Given the description of an element on the screen output the (x, y) to click on. 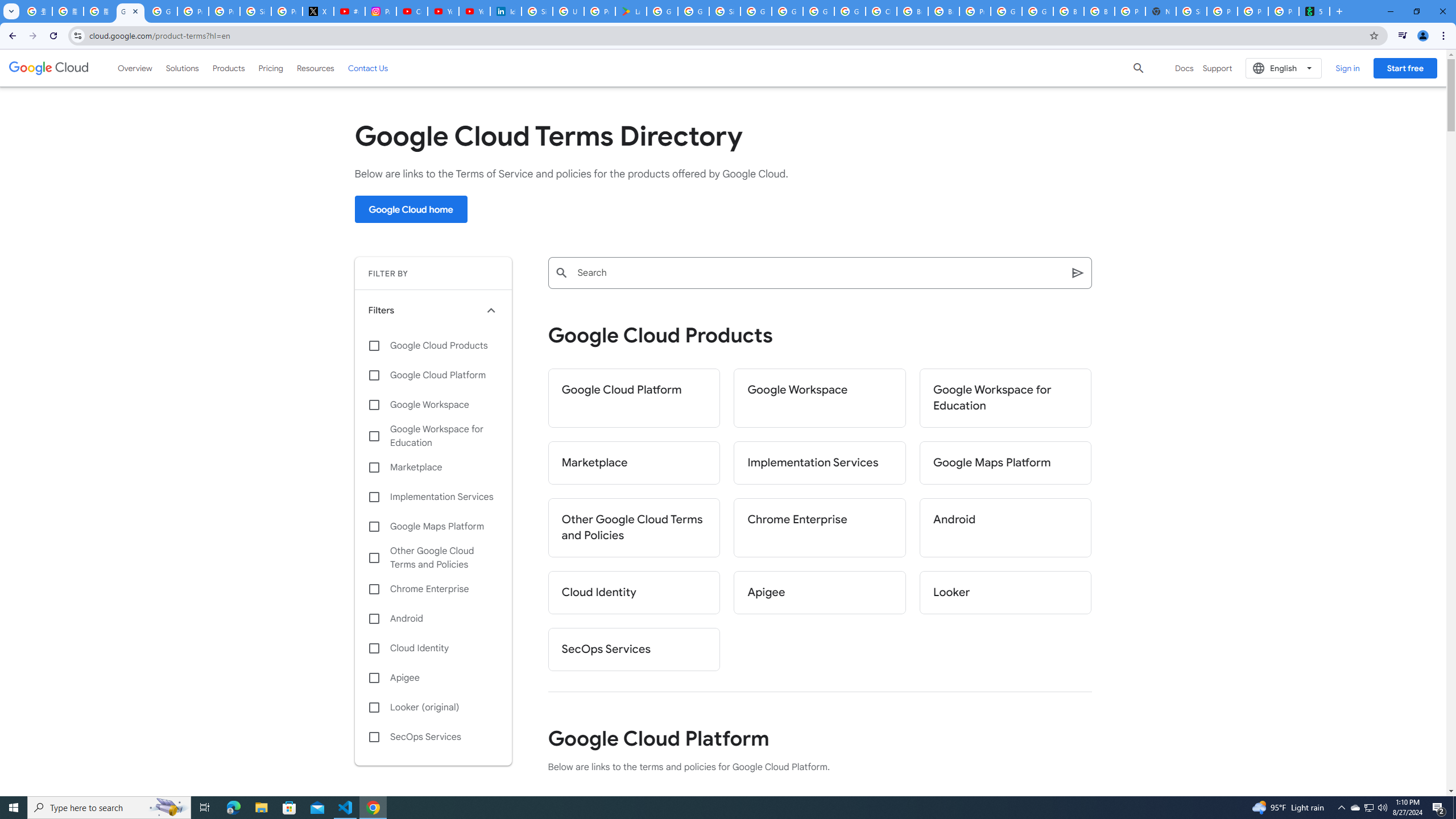
Google Workspace (432, 404)
Chrome Enterprise (819, 527)
Docs (1183, 67)
Solutions (181, 67)
Privacy Help Center - Policies Help (223, 11)
SecOps Services (633, 649)
